Given the description of an element on the screen output the (x, y) to click on. 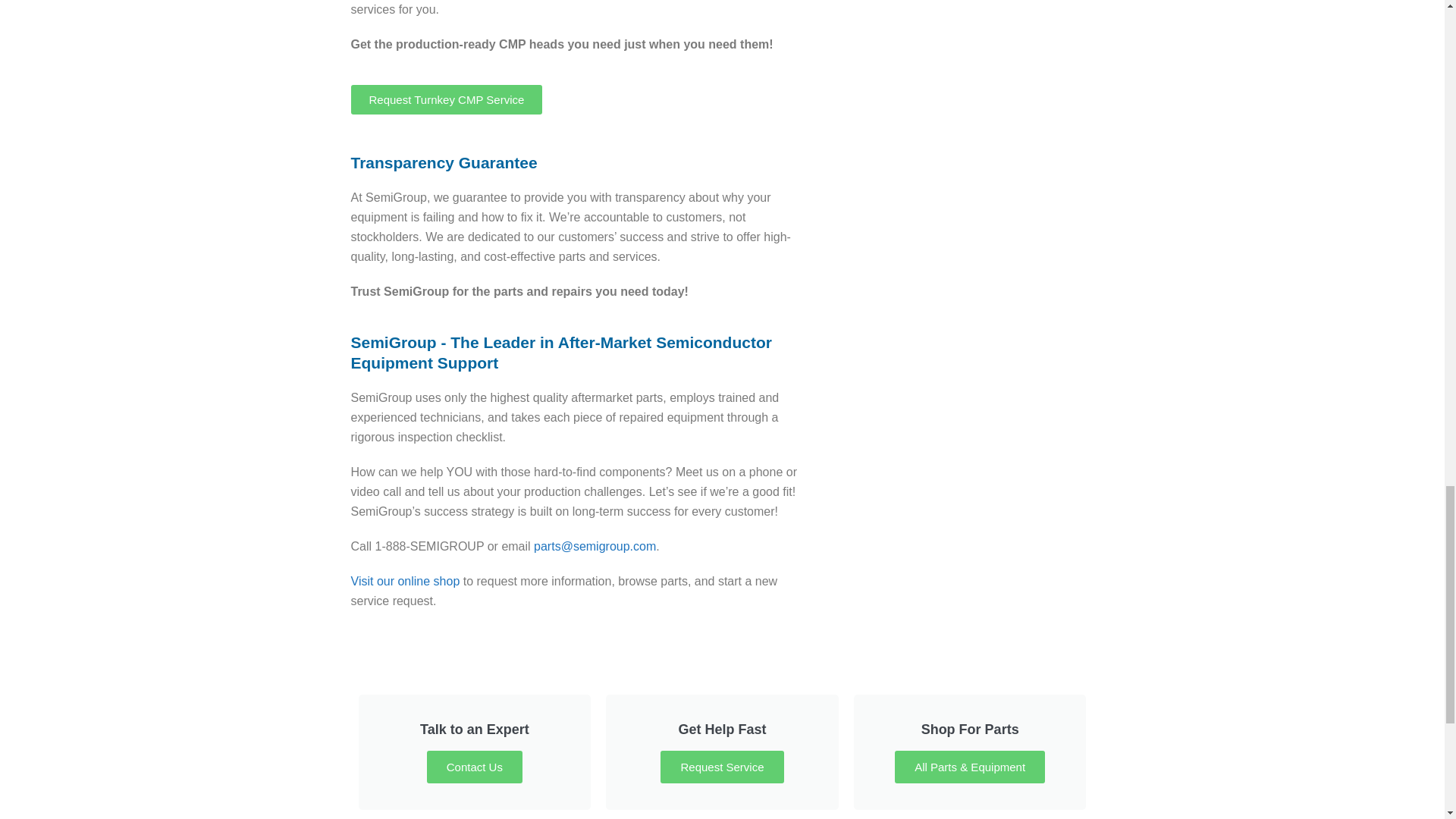
Visit our online shop (405, 581)
Request Turnkey CMP Service (474, 751)
